Given the description of an element on the screen output the (x, y) to click on. 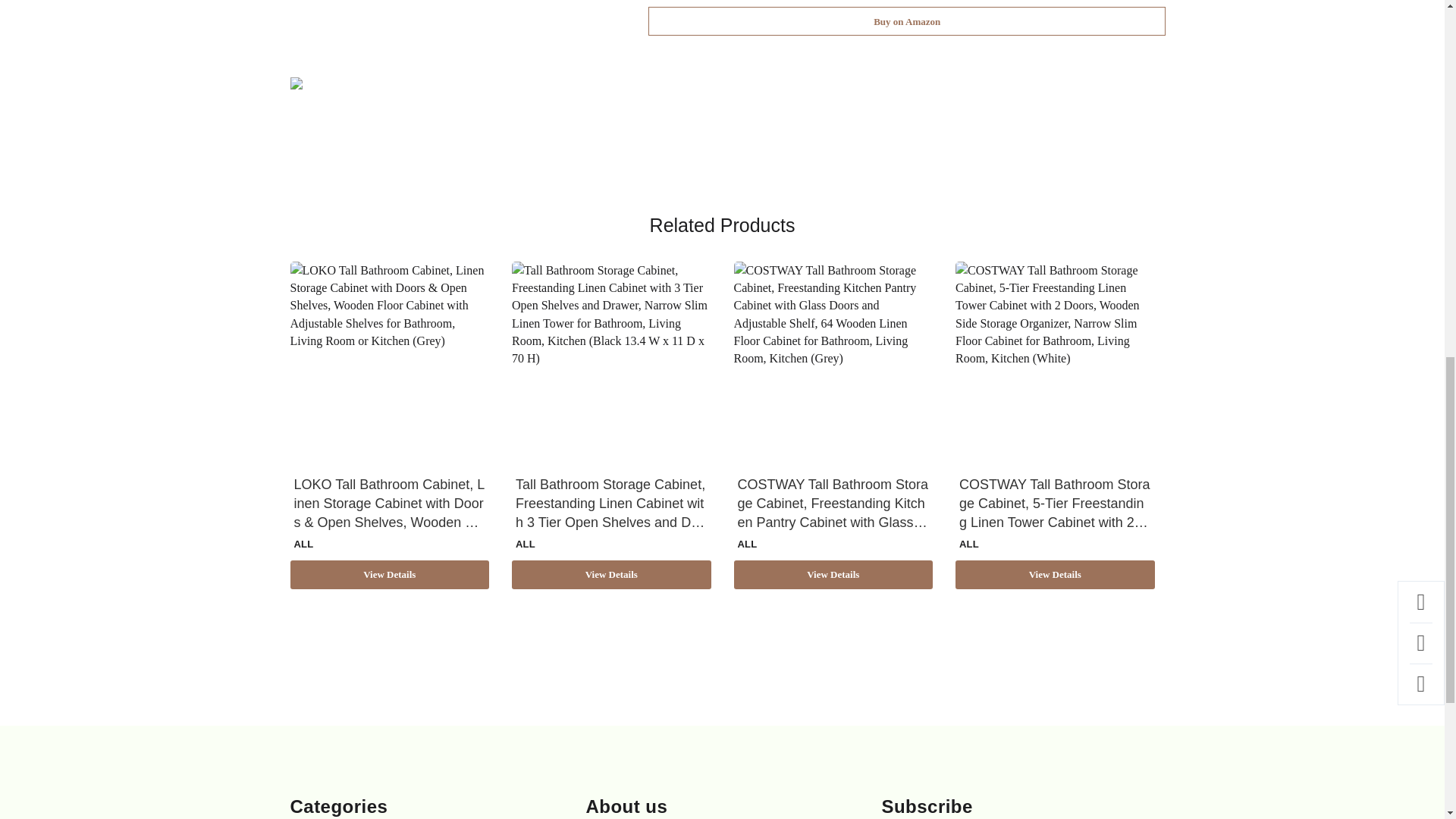
View Details (389, 574)
View Details (1054, 574)
View Details (611, 574)
View Details (833, 574)
Buy on Amazon (906, 21)
